Given the description of an element on the screen output the (x, y) to click on. 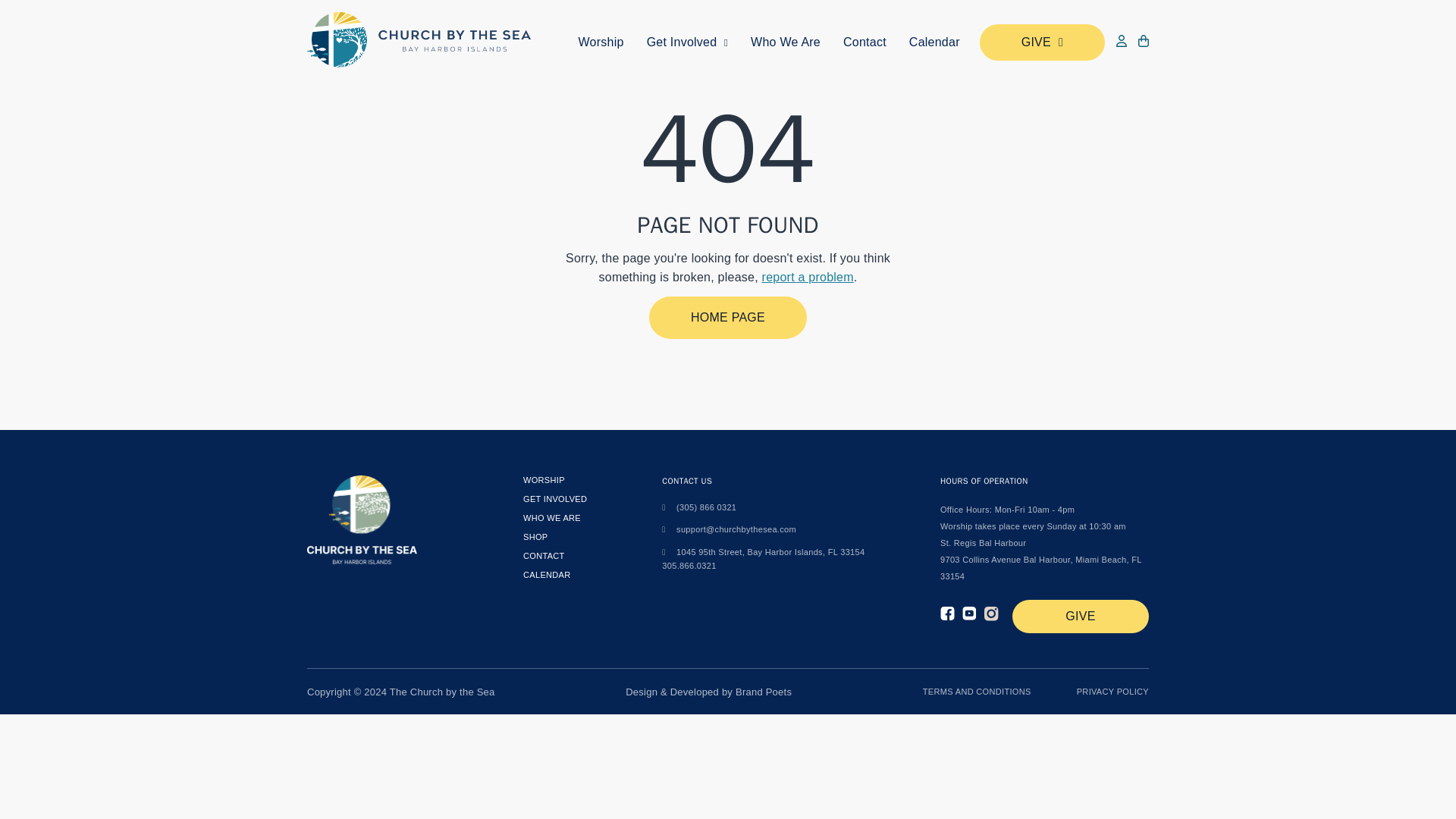
SHOP (535, 532)
Who We Are (786, 35)
WORSHIP (763, 557)
GET INVOLVED (543, 471)
HOME PAGE (554, 491)
Calendar (727, 317)
Get Involved (933, 38)
Contact (687, 18)
Worship (864, 38)
CONTACT (601, 15)
GIVE (543, 551)
CALENDAR (1042, 40)
WHO WE ARE (546, 571)
report a problem (551, 511)
